Given the description of an element on the screen output the (x, y) to click on. 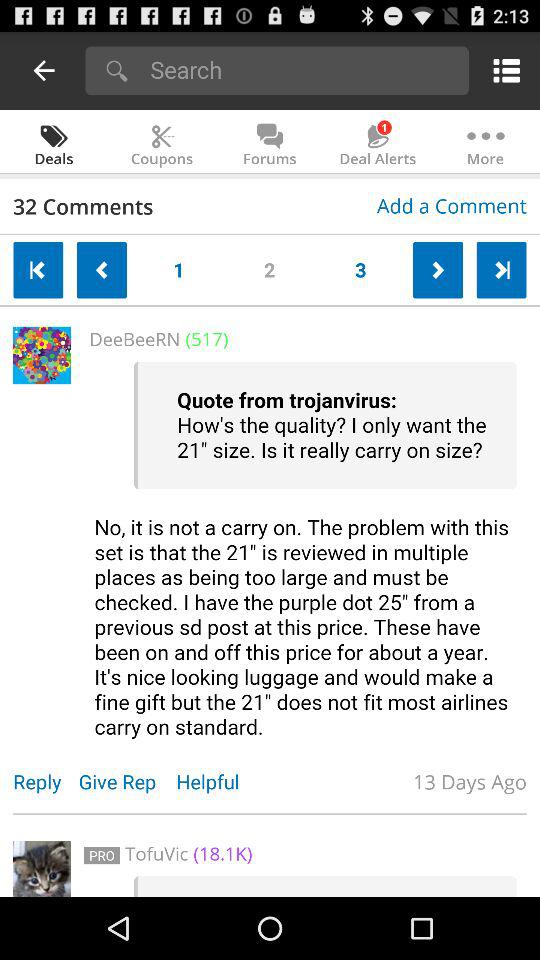
turn on the button to the right of reply (127, 781)
